Given the description of an element on the screen output the (x, y) to click on. 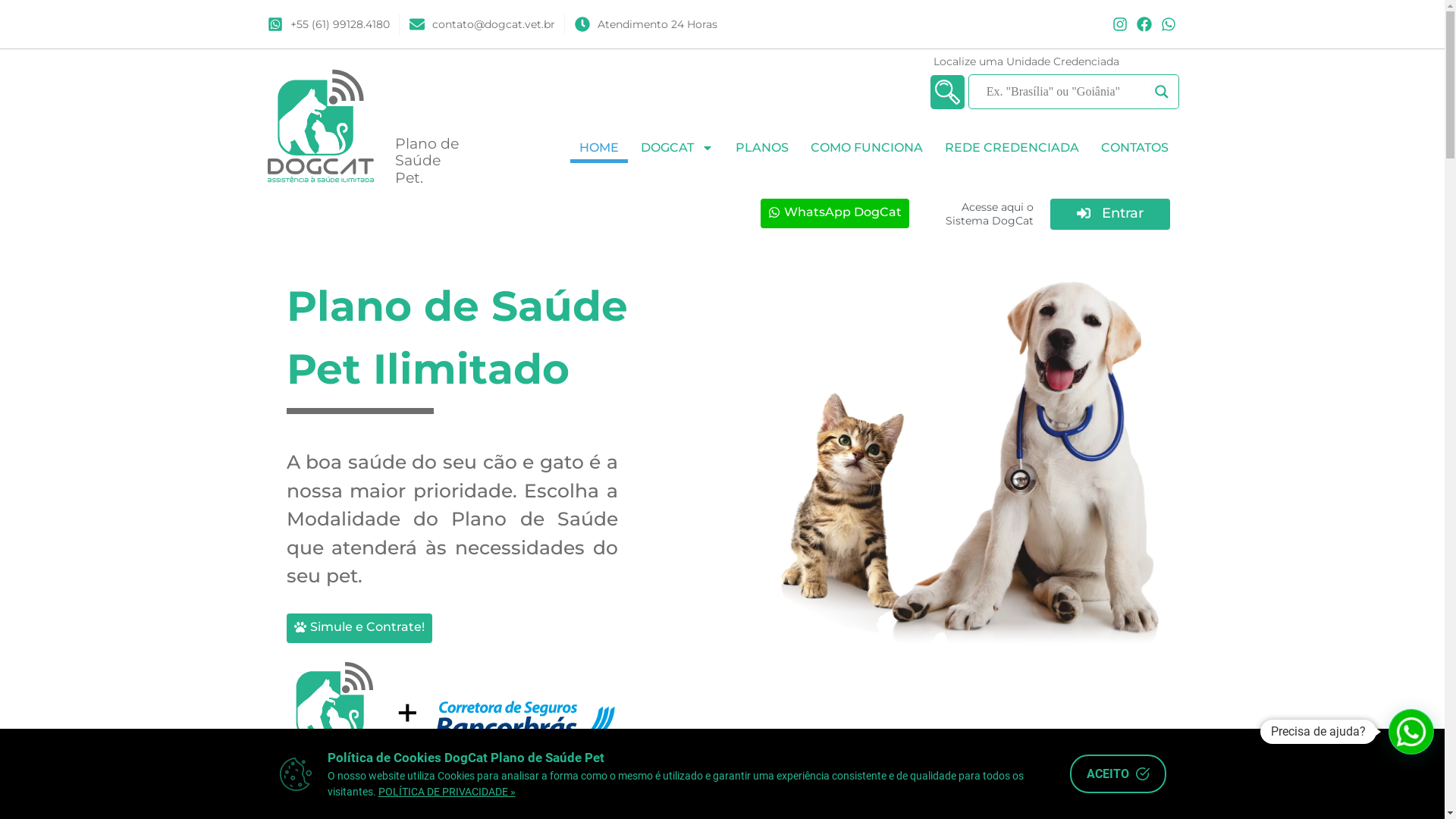
COMO FUNCIONA Element type: text (865, 147)
DOGCAT Element type: text (675, 147)
Whatsapp Element type: text (1168, 23)
ACEITO Element type: text (1117, 773)
Atendimento 24 Horas Element type: text (645, 23)
Simule e Contrate! Element type: text (359, 627)
PLANOS Element type: text (761, 147)
Facebook Element type: text (1143, 23)
Entrar Element type: text (1110, 213)
REDE CREDENCIADA Element type: text (1011, 147)
Instagram Element type: text (1119, 23)
contato@dogcat.vet.br Element type: text (482, 23)
WhatsApp DogCat Element type: text (834, 213)
CONTATOS Element type: text (1134, 147)
+55 (61) 99128.4180 Element type: text (327, 23)
HOME Element type: text (598, 147)
